Given the description of an element on the screen output the (x, y) to click on. 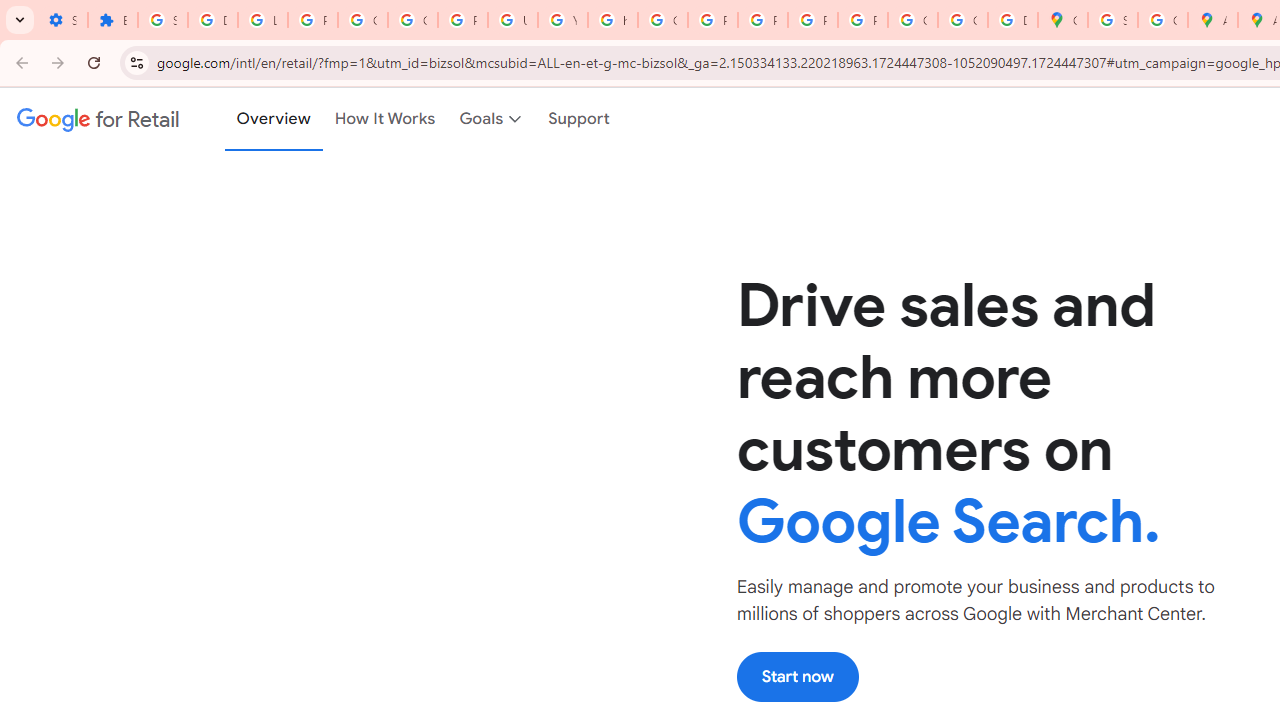
Google Maps (1062, 20)
Google Account Help (362, 20)
Support (579, 119)
Settings - On startup (62, 20)
https://scholar.google.com/ (612, 20)
Support (579, 119)
Google for Retail (98, 119)
